Given the description of an element on the screen output the (x, y) to click on. 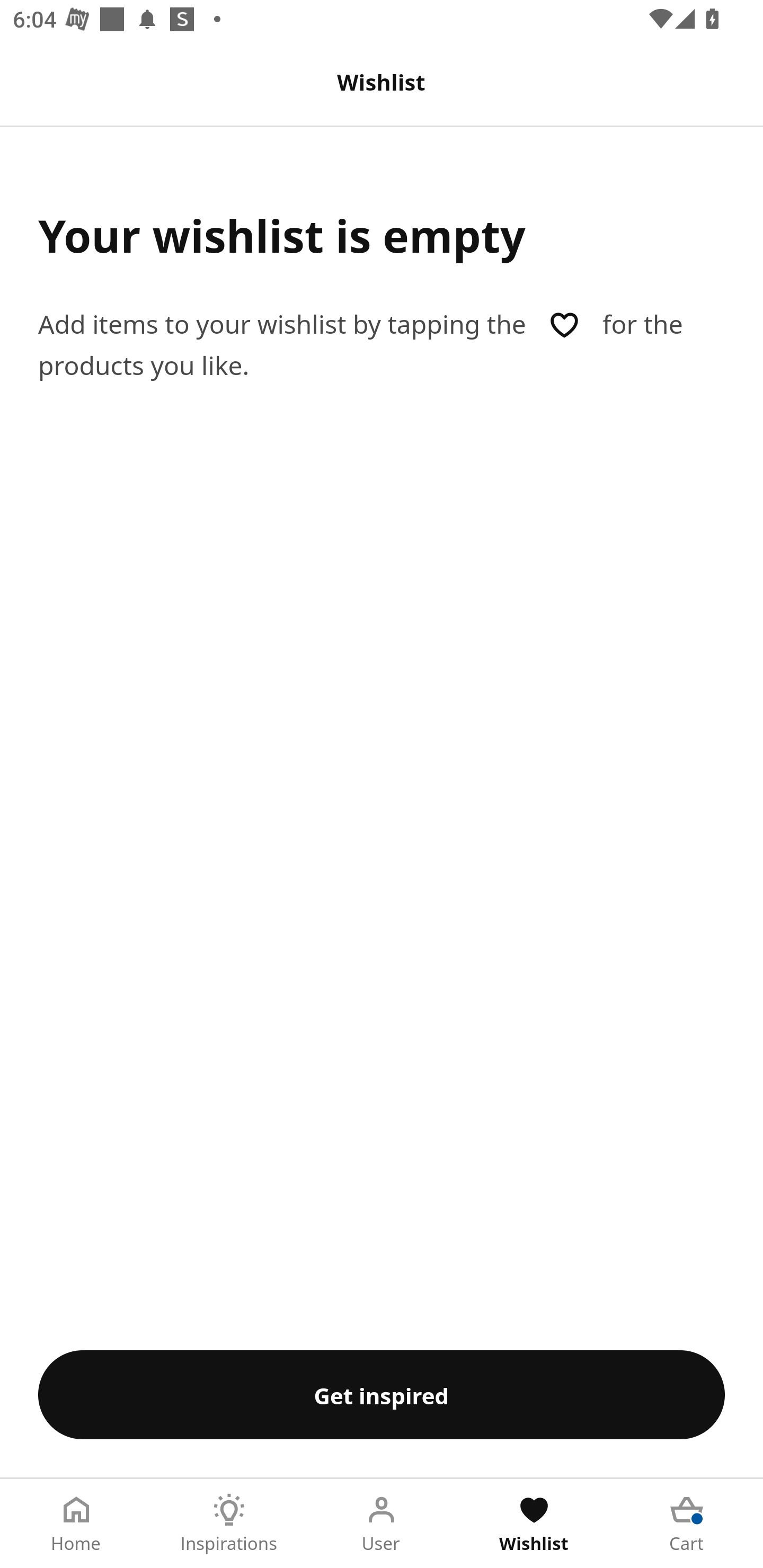
Get inspired (381, 1394)
Home
Tab 1 of 5 (76, 1522)
Inspirations
Tab 2 of 5 (228, 1522)
User
Tab 3 of 5 (381, 1522)
Wishlist
Tab 4 of 5 (533, 1522)
Cart
Tab 5 of 5 (686, 1522)
